Given the description of an element on the screen output the (x, y) to click on. 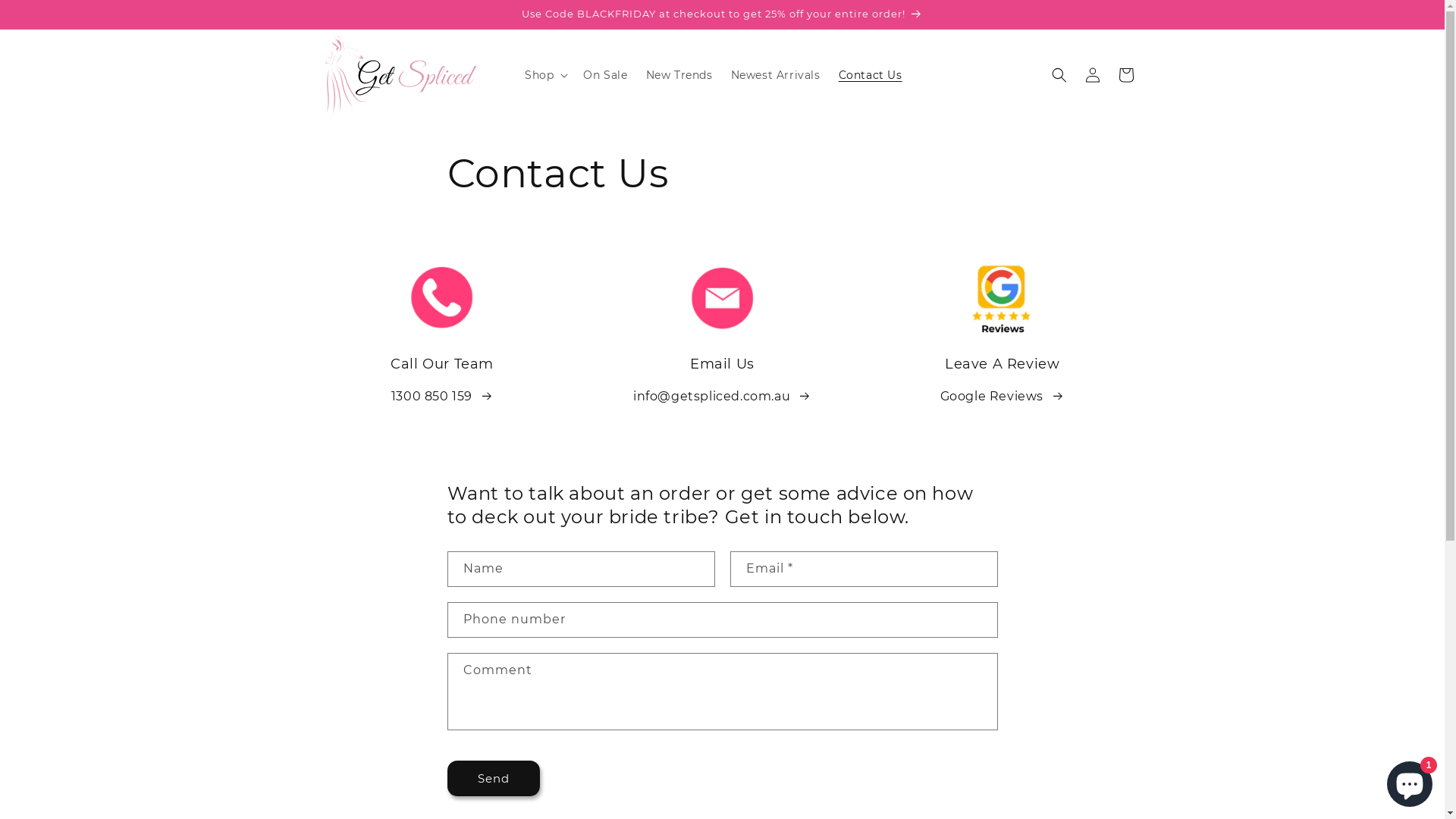
New Trends Element type: text (679, 75)
Log in Element type: text (1091, 74)
Google Reviews  Element type: text (1002, 396)
info@getspliced.com.au  Element type: text (722, 396)
Shopify online store chat Element type: hover (1409, 780)
Send Element type: text (493, 778)
Contact Us Element type: text (870, 75)
Cart Element type: text (1125, 74)
1300 850 159  Element type: text (442, 396)
Newest Arrivals Element type: text (775, 75)
On Sale Element type: text (605, 75)
